Given the description of an element on the screen output the (x, y) to click on. 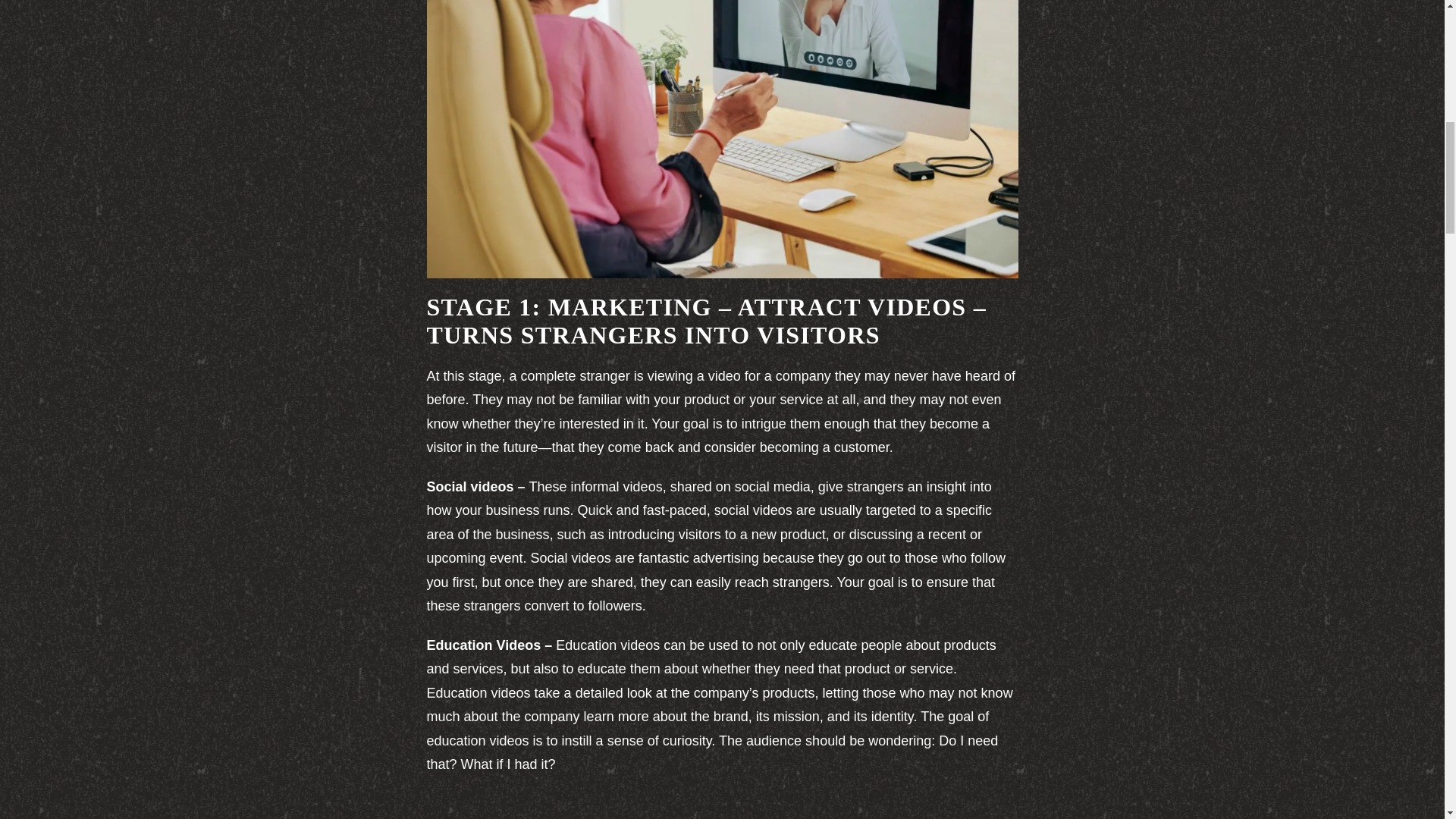
Product Demonstration Video by D-MAK Productions (721, 805)
